Given the description of an element on the screen output the (x, y) to click on. 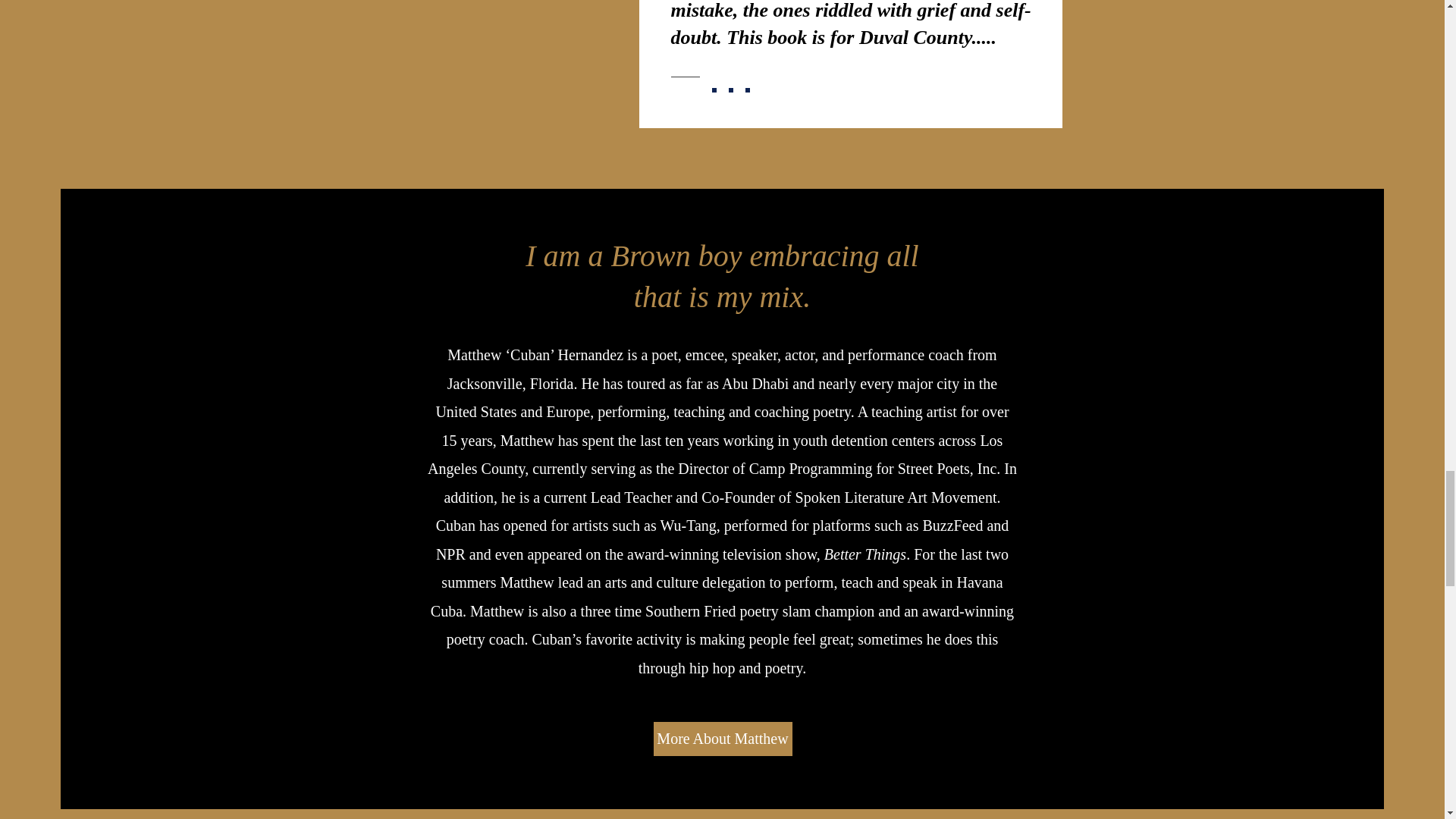
More About Matthew (722, 738)
